Given the description of an element on the screen output the (x, y) to click on. 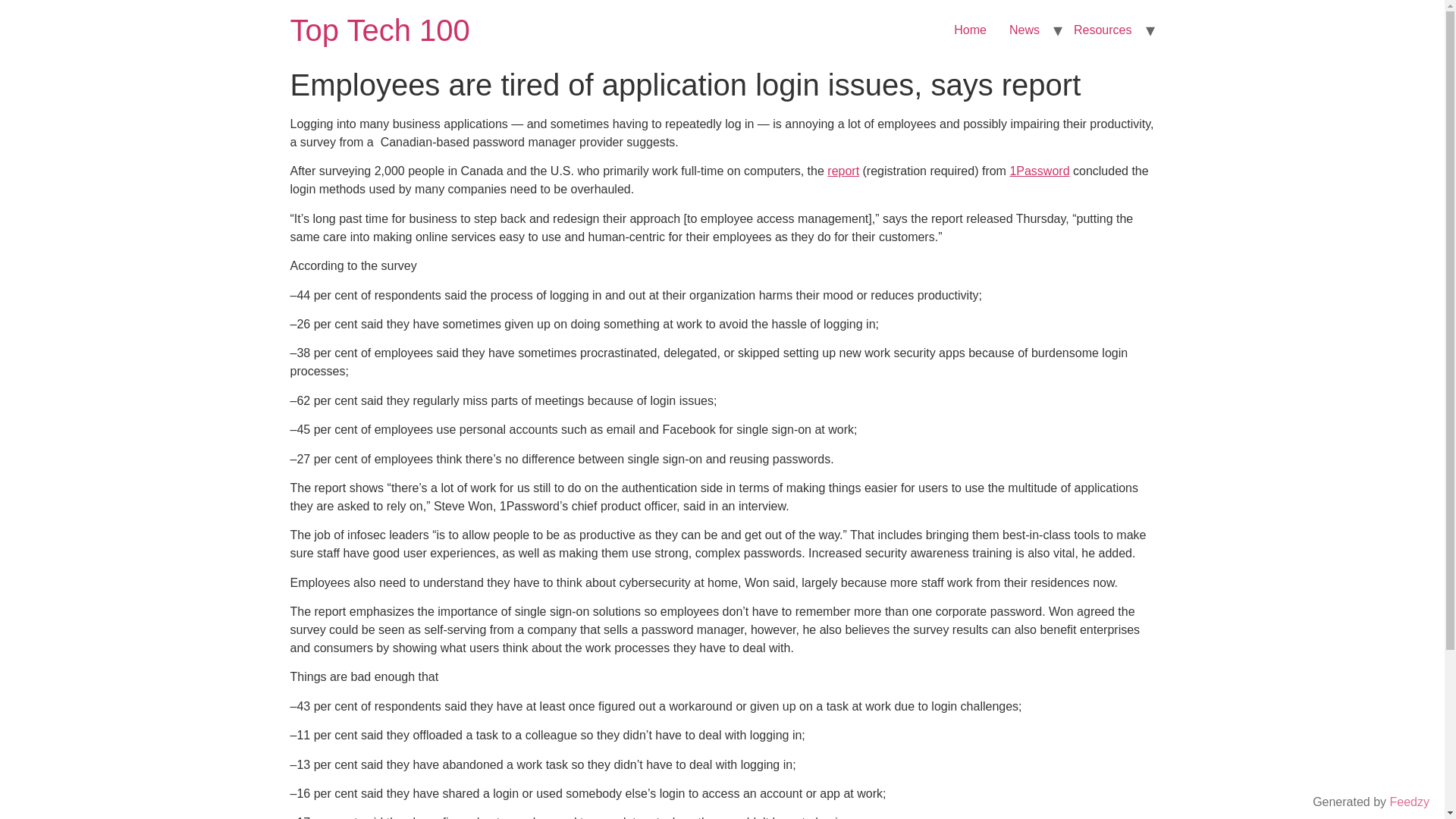
Resources (1102, 30)
Home (969, 30)
Home (378, 29)
1Password (1038, 170)
report (843, 170)
News (1024, 30)
Feedzy (1409, 801)
Top Tech 100 (378, 29)
